Given the description of an element on the screen output the (x, y) to click on. 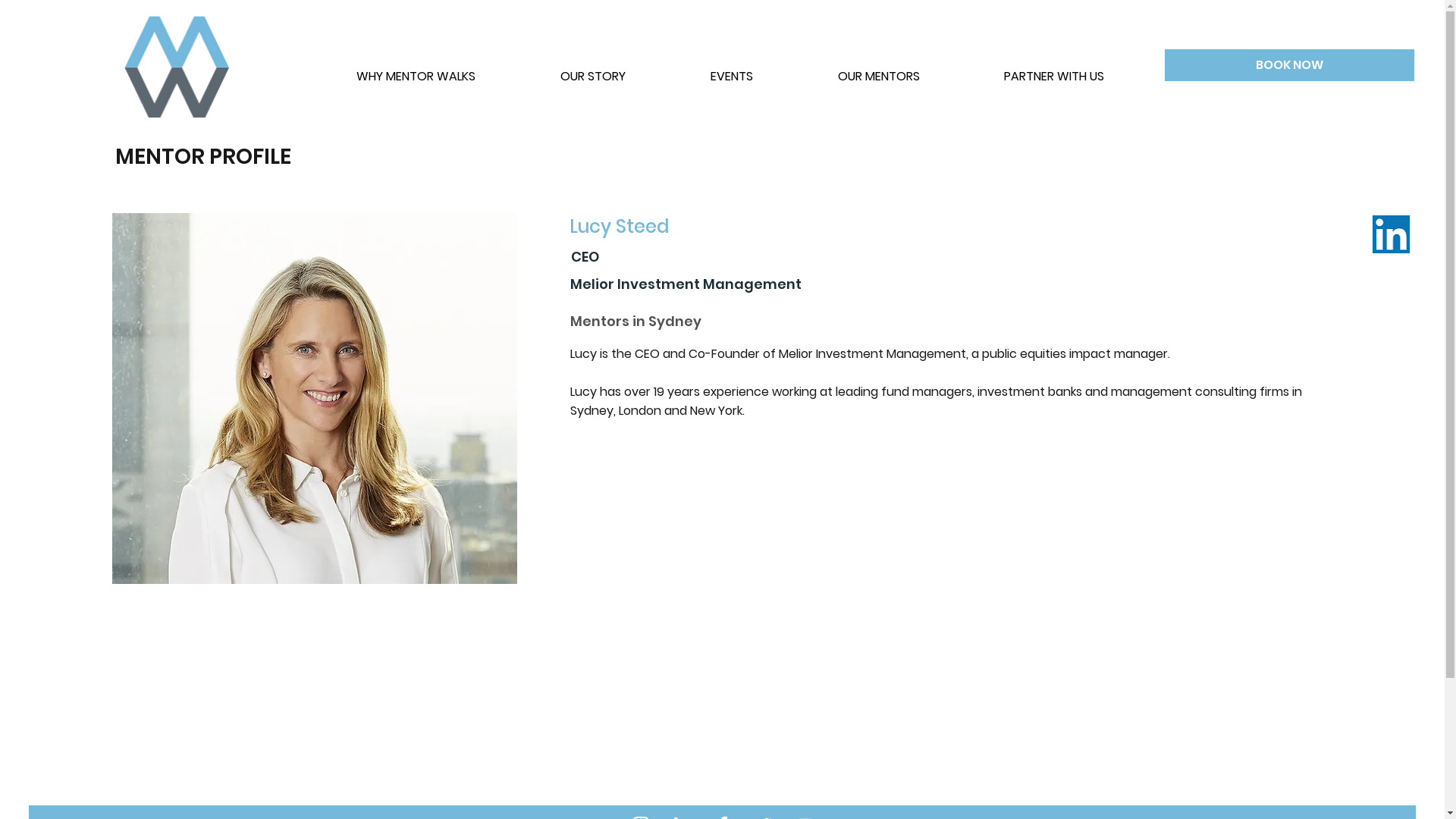
OUR STORY Element type: text (592, 69)
EVENTS Element type: text (731, 69)
PARTNER WITH US Element type: text (1053, 69)
WHY MENTOR WALKS Element type: text (415, 69)
BOOK NOW Element type: text (1289, 65)
OUR MENTORS Element type: text (878, 69)
